Given the description of an element on the screen output the (x, y) to click on. 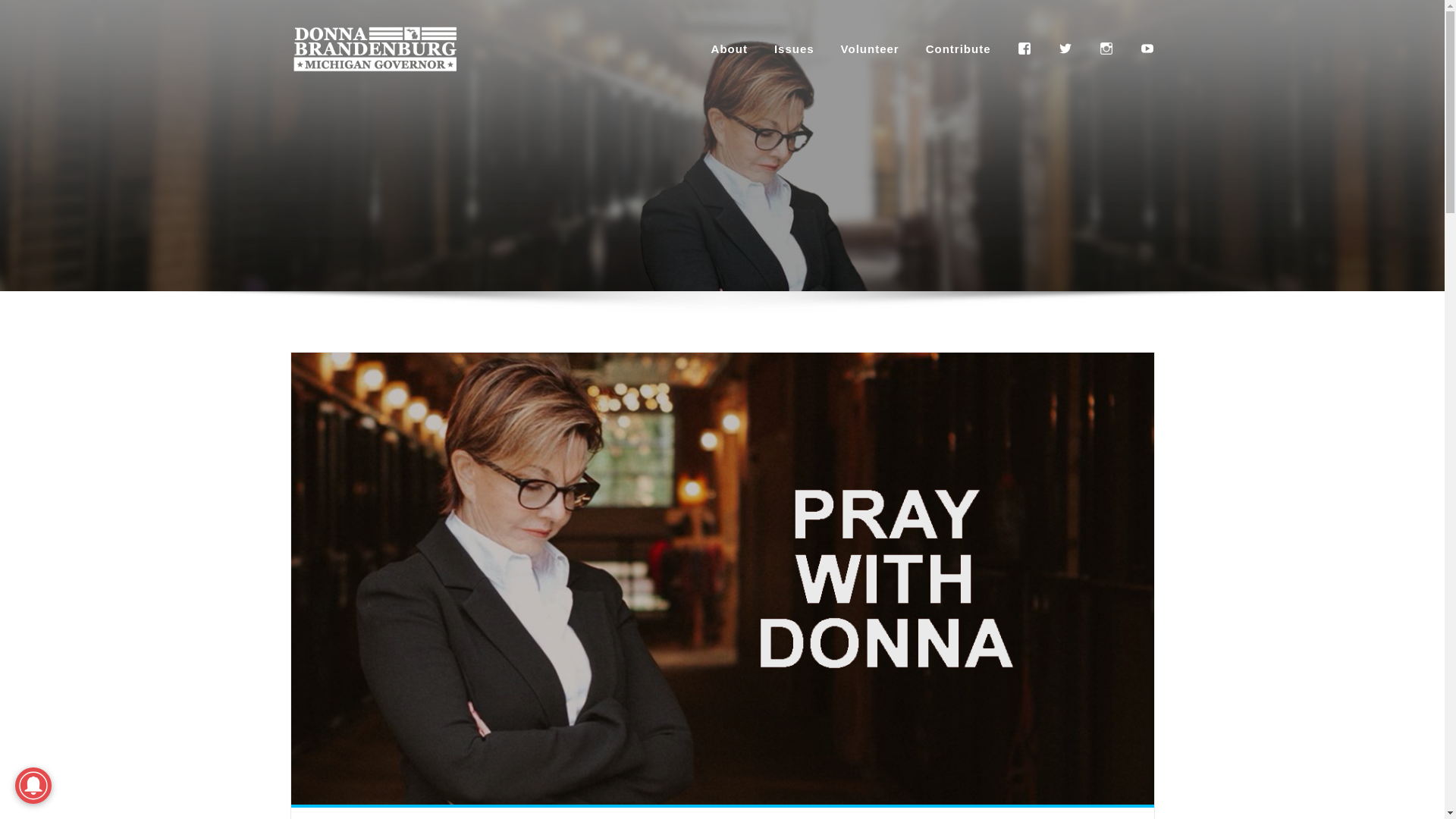
About (729, 48)
Issues (793, 48)
Contribute (958, 48)
Volunteer (870, 48)
